Given the description of an element on the screen output the (x, y) to click on. 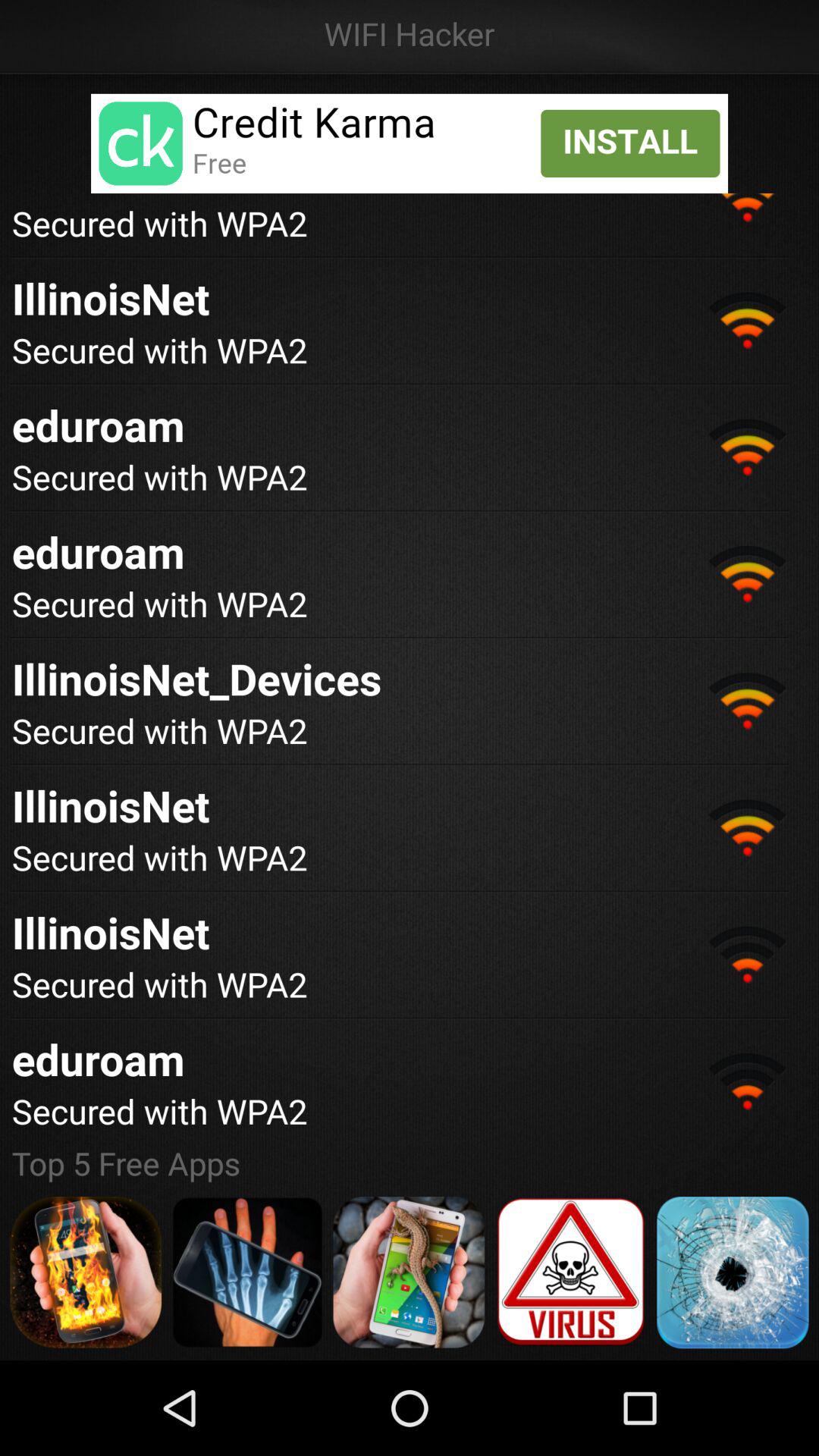
anti virus application (570, 1272)
